Given the description of an element on the screen output the (x, y) to click on. 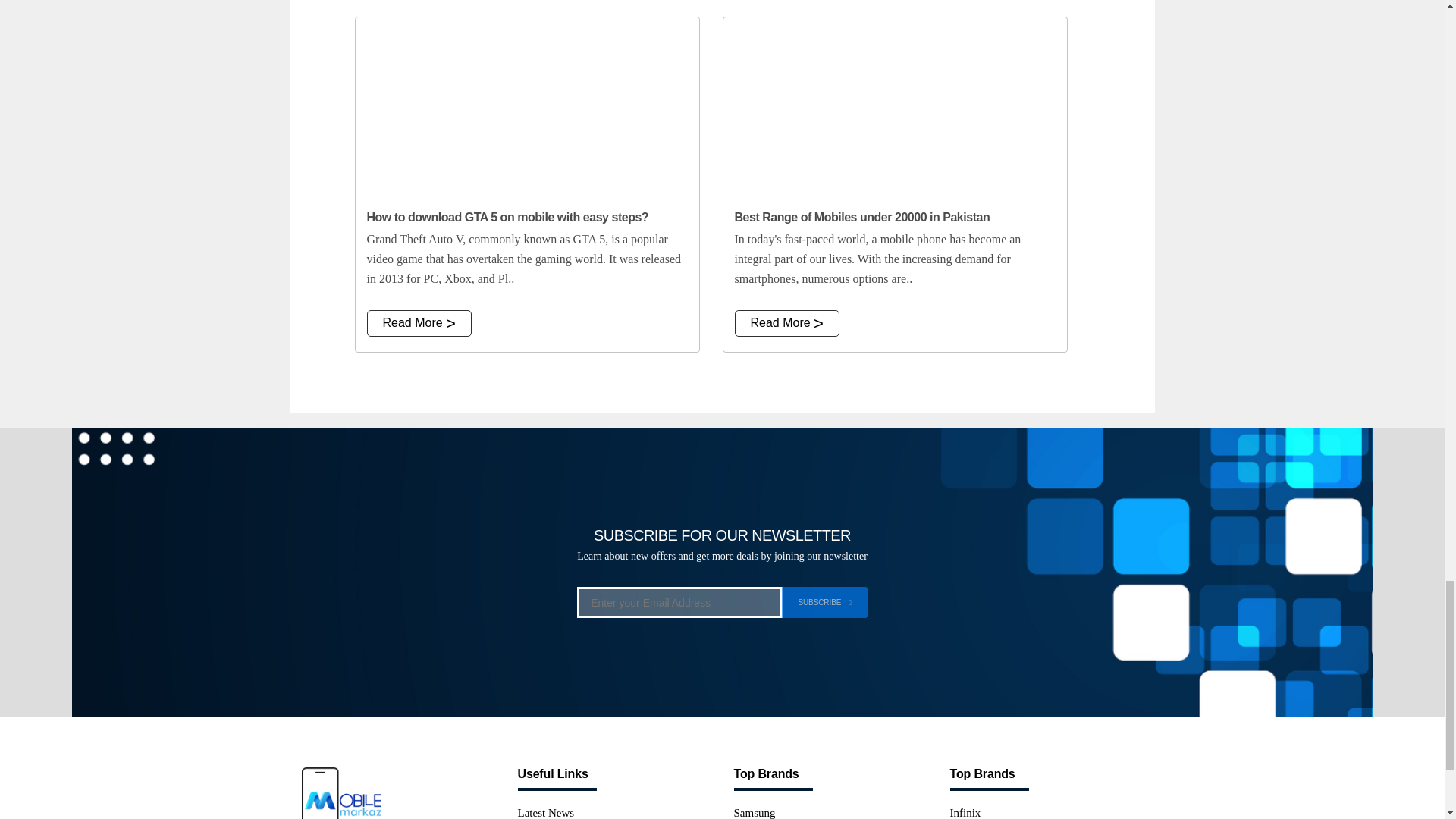
Best Range of Mobiles under 20000 in Pakistan (895, 108)
How to download GTA 5 on mobile with easy steps? (526, 108)
